Given the description of an element on the screen output the (x, y) to click on. 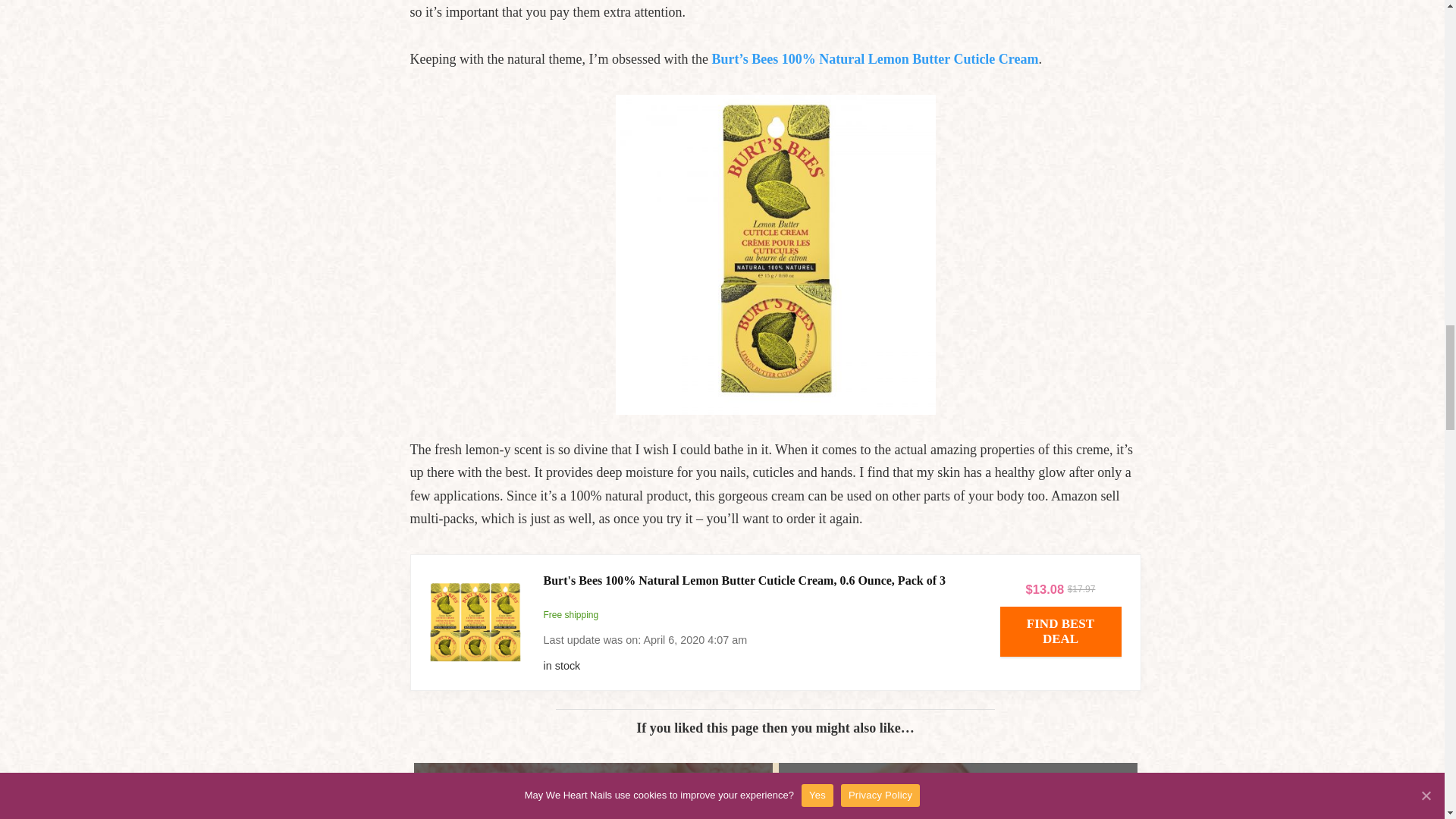
Last update was on: April 6, 2020 4:07 am (759, 665)
